Given the description of an element on the screen output the (x, y) to click on. 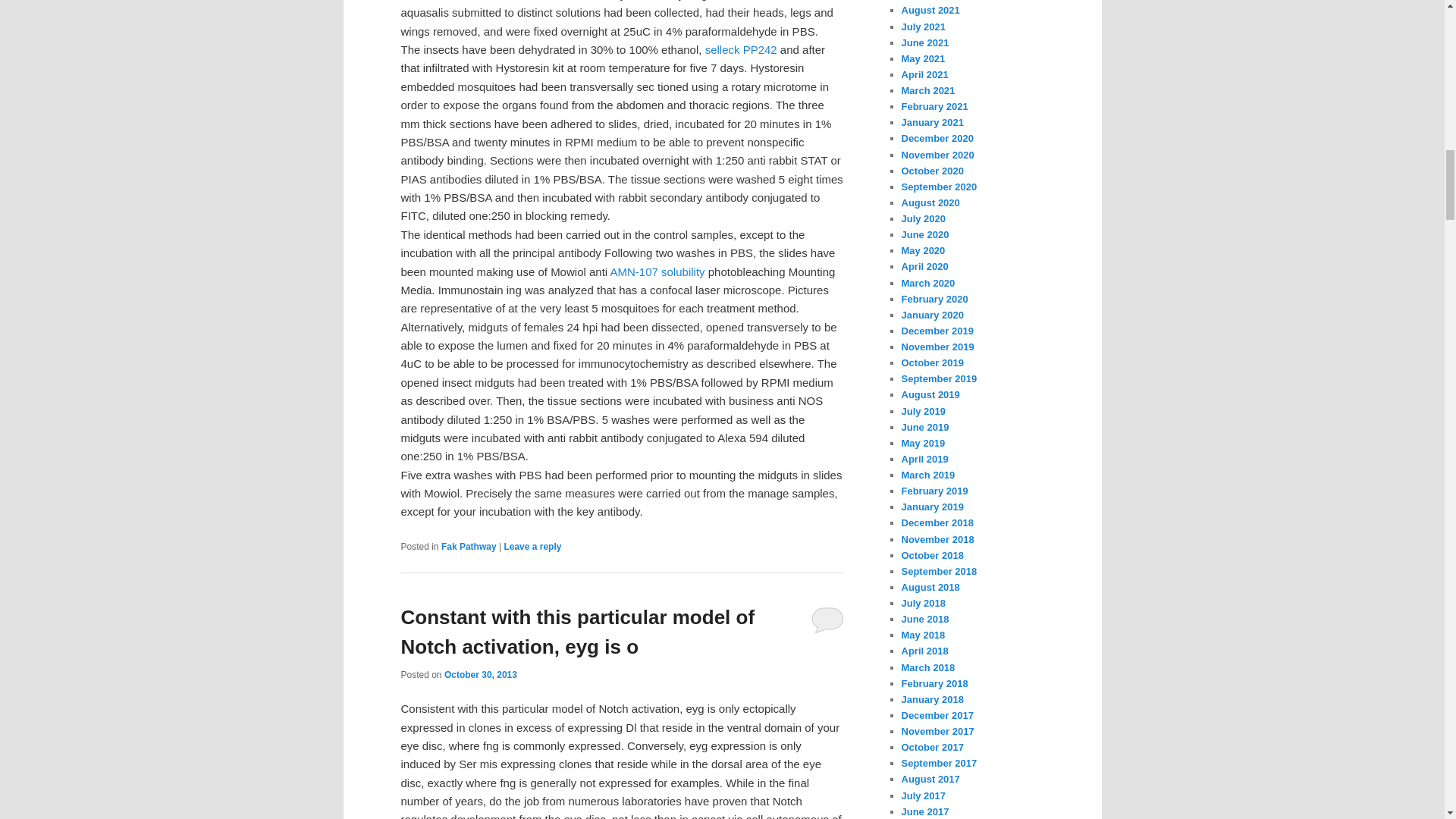
selleck PP242 (740, 49)
October 30, 2013 (480, 674)
Fak Pathway (468, 546)
View all posts in Fak Pathway (468, 546)
AMN-107 solubility (657, 271)
Leave a reply (531, 546)
